Given the description of an element on the screen output the (x, y) to click on. 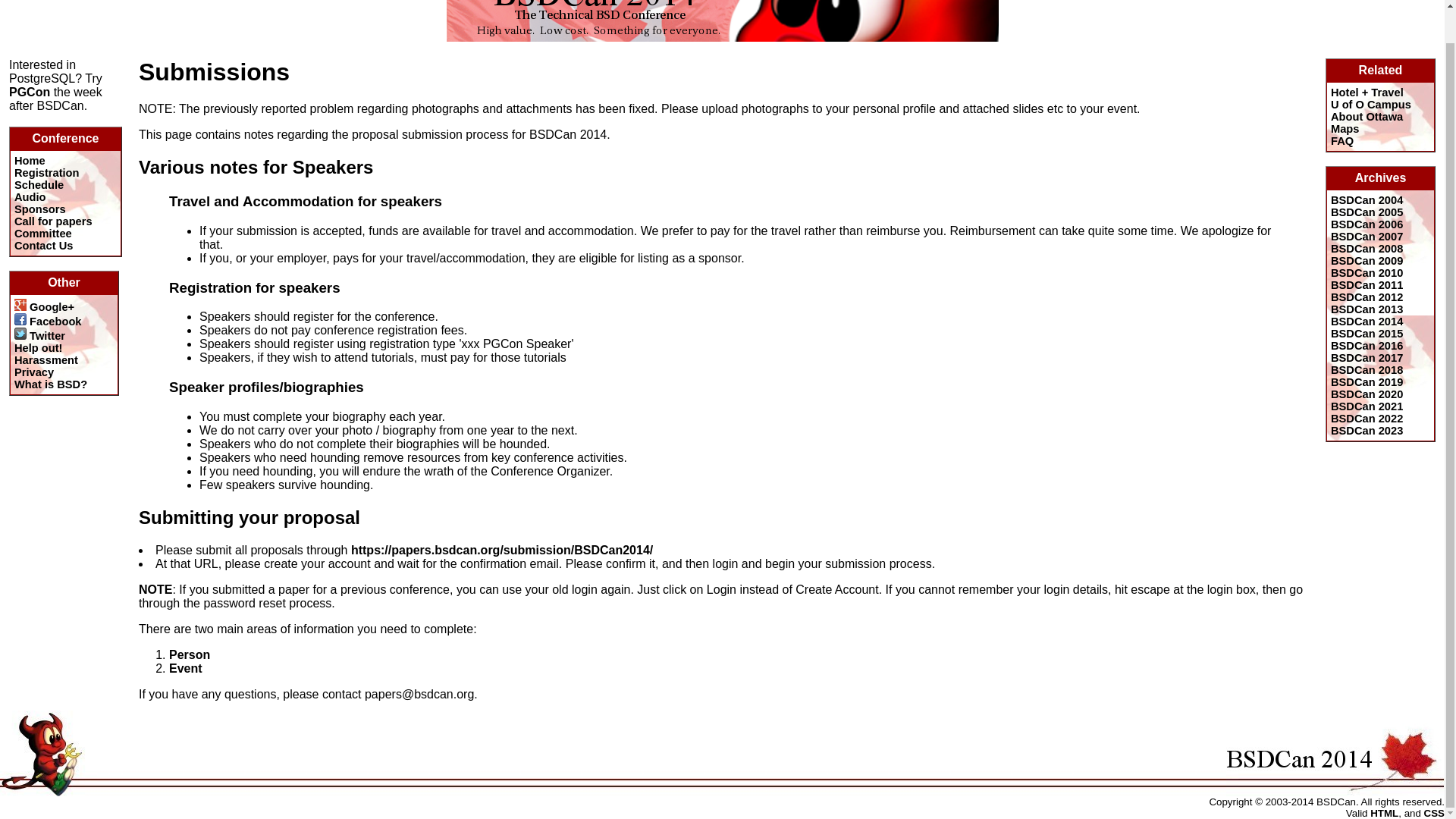
BSDCan 2011 (1366, 285)
Call for papers (53, 221)
PGCon (28, 91)
What is BSD? (50, 384)
Twitter (39, 336)
Home (29, 160)
BSDCan 2013 (1366, 309)
Help out! (38, 347)
BSDCan 2017 (1366, 357)
BSDCan 2012 (1366, 297)
BSDCan 2005 (1366, 212)
Privacy (33, 372)
BSDCan 2016 (1366, 345)
Committee (42, 233)
Harassment (46, 359)
